Given the description of an element on the screen output the (x, y) to click on. 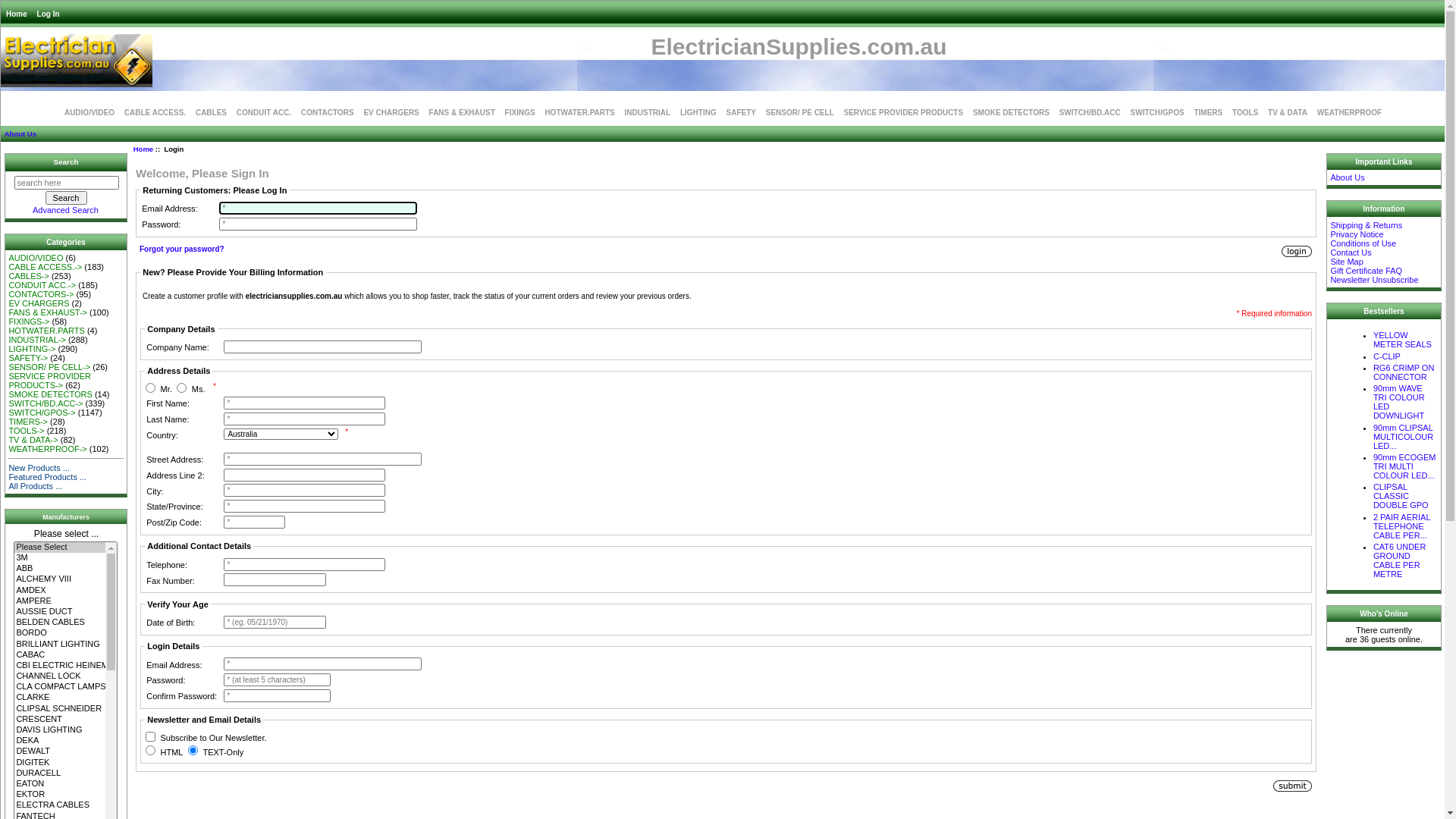
TV & DATA Element type: text (1287, 112)
About Us Element type: text (1347, 177)
WEATHERPROOF Element type: text (1349, 112)
FANS & EXHAUST Element type: text (461, 112)
INDUSTRIAL-> Element type: text (36, 339)
About Us Element type: text (20, 133)
FIXINGS-> Element type: text (28, 321)
CABLE ACCESS.-> Element type: text (44, 266)
AUDIO/VIDEO Element type: text (35, 257)
CABLE ACCESS. Element type: text (154, 112)
90mm WAVE TRI COLOUR LED DOWNLIGHT Element type: text (1398, 401)
SWITCH/BD.ACC-> Element type: text (45, 402)
SMOKE DETECTORS Element type: text (1011, 112)
SENSOR/ PE CELL Element type: text (799, 112)
SERVICE PROVIDER PRODUCTS Element type: text (903, 112)
Conditions of Use Element type: text (1363, 242)
2 PAIR AERIAL TELEPHONE CABLE PER... Element type: text (1401, 525)
Search Element type: text (66, 197)
CONDUIT ACC. Element type: text (263, 112)
90mm ECOGEM TRI MULTI COLOUR LED... Element type: text (1404, 466)
Contact Us Element type: text (1350, 252)
INDUSTRIAL Element type: text (647, 112)
SWITCH/GPOS Element type: text (1157, 112)
LIGHTING Element type: text (698, 112)
Featured Products ... Element type: text (47, 476)
WEATHERPROOF-> Element type: text (47, 448)
Advanced Search Element type: text (65, 209)
Gift Certificate FAQ Element type: text (1366, 270)
EV CHARGERS Element type: text (390, 112)
CONTACTORS Element type: text (327, 112)
CABLES Element type: text (210, 112)
All Products ... Element type: text (35, 485)
New Products ... Element type: text (38, 467)
HOTWATER.PARTS Element type: text (46, 330)
FANS & EXHAUST-> Element type: text (47, 311)
TIMERS Element type: text (1207, 112)
CLIPSAL CLASSIC DOUBLE GPO Element type: text (1400, 495)
CONDUIT ACC.-> Element type: text (41, 284)
SMOKE DETECTORS Element type: text (49, 393)
Home Element type: text (16, 13)
SAFETY-> Element type: text (27, 357)
FIXINGS Element type: text (520, 112)
AUDIO/VIDEO Element type: text (89, 112)
Home Element type: text (143, 148)
Privacy Notice Element type: text (1356, 233)
TOOLS Element type: text (1244, 112)
Site Map Element type: text (1346, 261)
HOTWATER.PARTS Element type: text (579, 112)
TIMERS-> Element type: text (27, 421)
Forgot your password? Element type: text (181, 248)
SWITCH/GPOS-> Element type: text (41, 412)
RG6 CRIMP ON CONNECTOR Element type: text (1403, 372)
SAFETY Element type: text (740, 112)
Newsletter Unsubscribe Element type: text (1374, 279)
TOOLS-> Element type: text (25, 430)
YELLOW METER SEALS Element type: text (1402, 339)
SENSOR/ PE CELL-> Element type: text (49, 366)
Submit the Information Element type: hover (1292, 785)
EV CHARGERS Element type: text (38, 302)
Powered by Zen Cart :: The Art of E-Commerce [home link] Element type: hover (76, 60)
90mm CLIPSAL MULTICOLOUR LED... Element type: text (1403, 436)
C-CLIP Element type: text (1386, 355)
SERVICE PROVIDER PRODUCTS-> Element type: text (49, 380)
CONTACTORS-> Element type: text (40, 293)
SWITCH/BD.ACC Element type: text (1089, 112)
Sign In Element type: hover (1296, 251)
LIGHTING-> Element type: text (31, 348)
CAT6 UNDER GROUND CABLE PER METRE Element type: text (1399, 560)
CABLES-> Element type: text (28, 275)
Shipping & Returns Element type: text (1366, 224)
TV & DATA-> Element type: text (32, 439)
Log In Element type: text (48, 13)
